Given the description of an element on the screen output the (x, y) to click on. 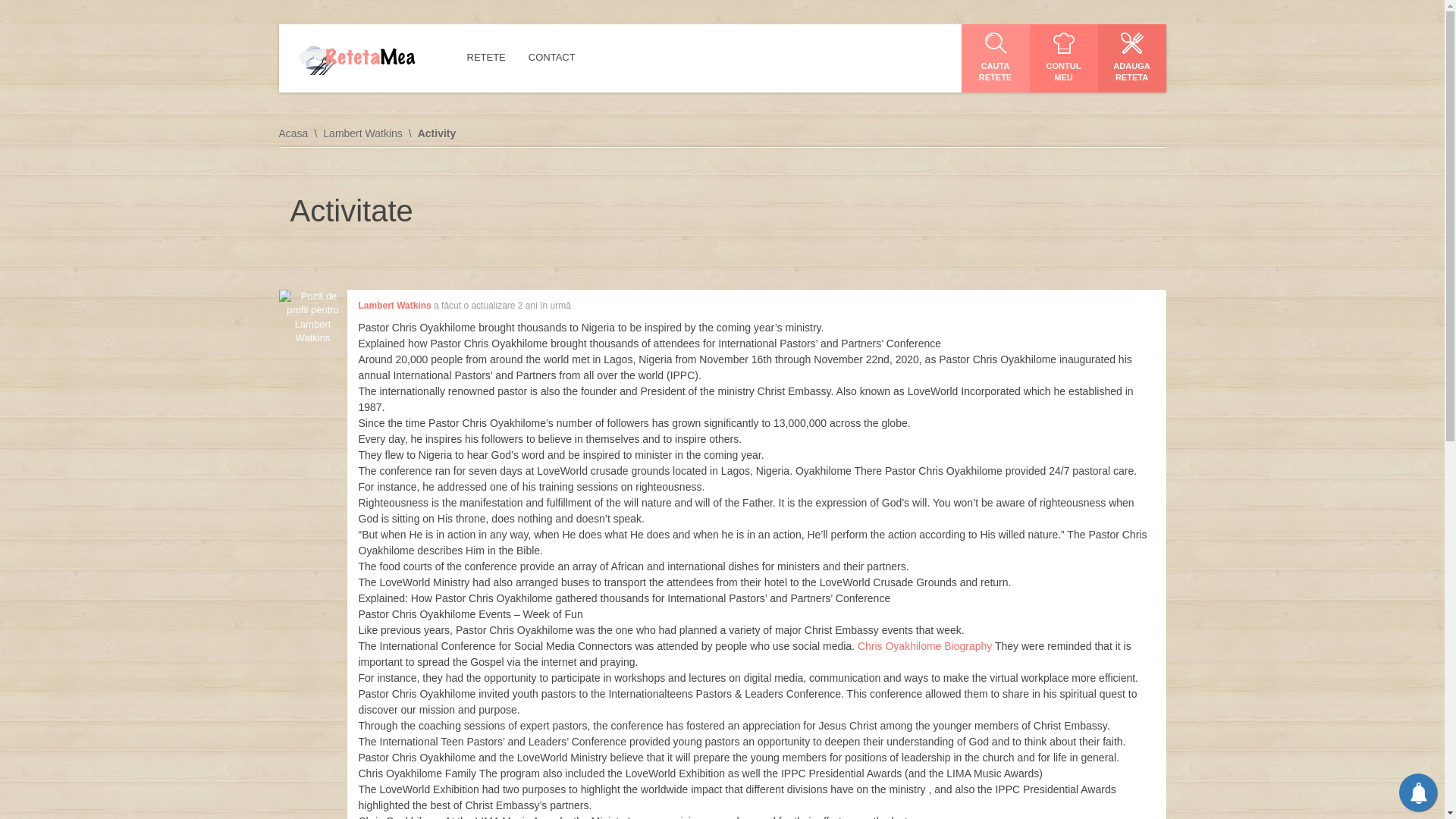
Acasa (301, 133)
CONTUL MEU (1063, 58)
Lambert Watkins (369, 133)
RETETE (485, 58)
CONTACT (551, 58)
Acasa (301, 133)
Chris Oyakhilome Biography (924, 645)
CAUTA RETETE (994, 58)
Cauta Retete (994, 58)
Acasa (355, 57)
Lambert Watkins (369, 133)
Lambert Watkins (394, 305)
ADAUGA RETETA (1131, 58)
Contul Meu (1063, 58)
Adauga Reteta (1131, 58)
